Given the description of an element on the screen output the (x, y) to click on. 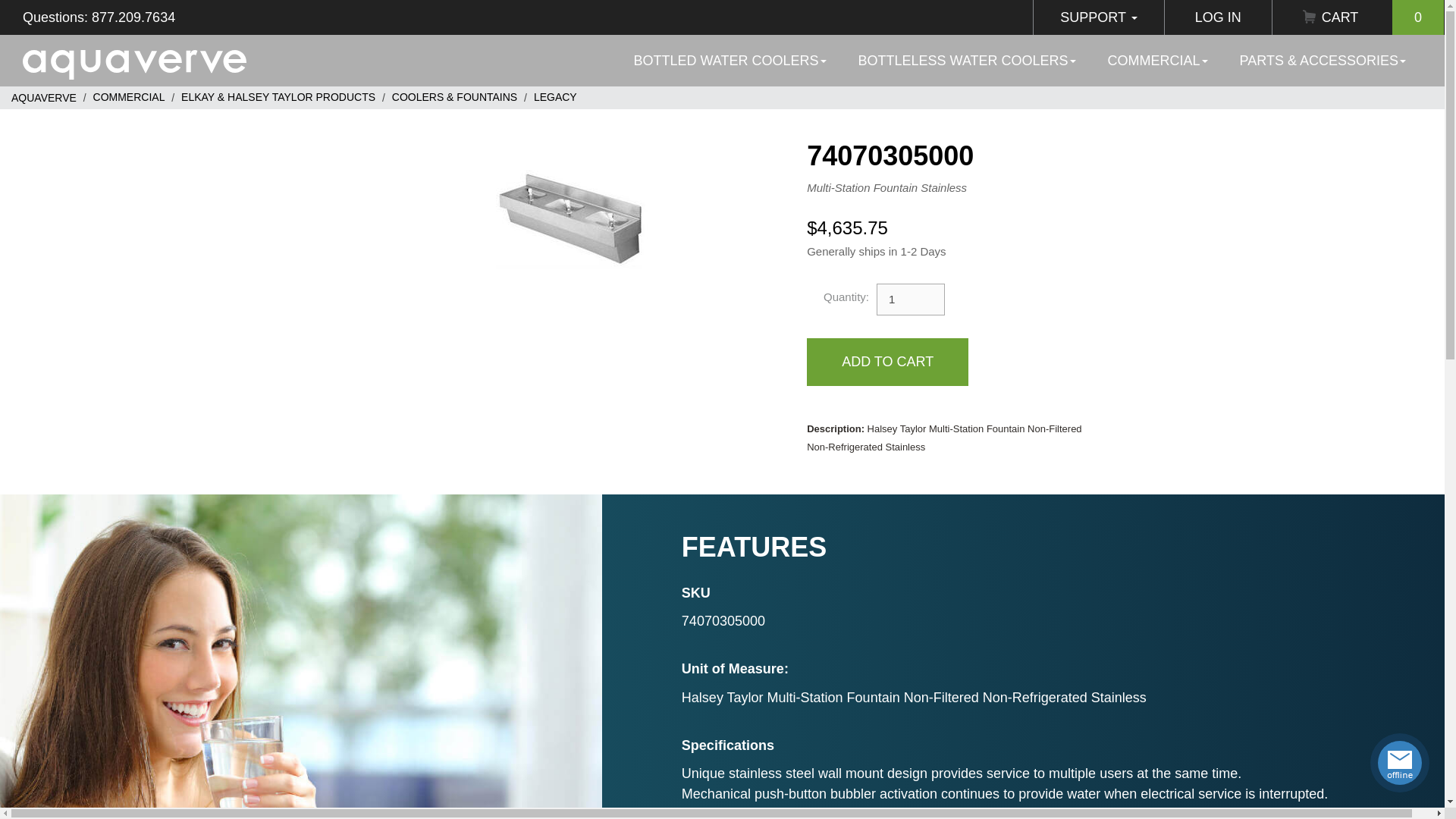
Commercial (129, 96)
LOG IN (1217, 17)
SUPPORT (1098, 17)
Aquaverve home (134, 60)
Aquaverve (44, 97)
1 (910, 299)
BOTTLED WATER COOLERS (729, 60)
Legacy (555, 96)
BOTTLELESS WATER COOLERS (967, 60)
CART 0 (1358, 17)
